Given the description of an element on the screen output the (x, y) to click on. 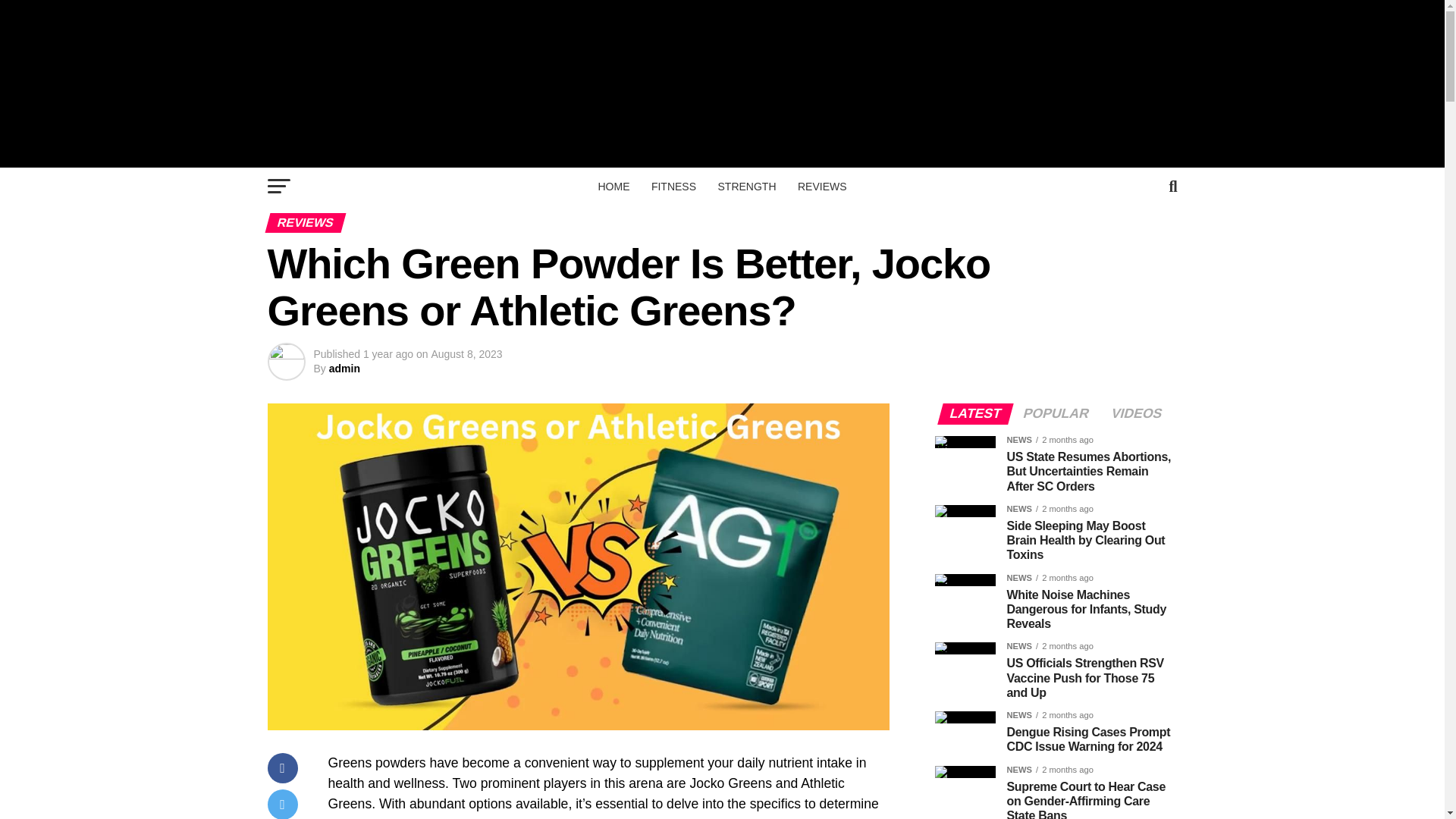
FITNESS (673, 186)
HOME (613, 186)
admin (344, 368)
Posts by admin (344, 368)
STRENGTH (745, 186)
REVIEWS (822, 186)
